Given the description of an element on the screen output the (x, y) to click on. 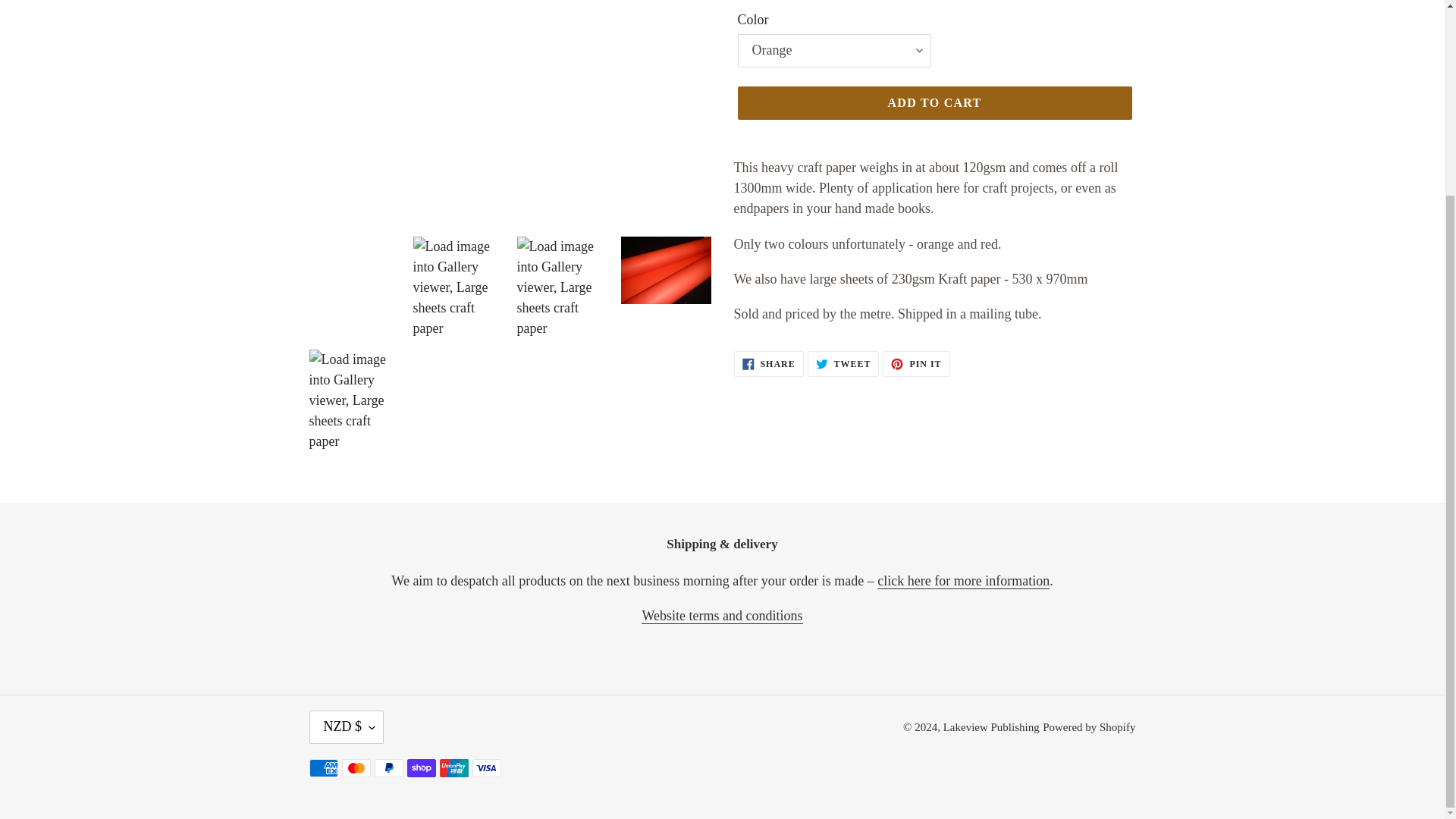
Delivery (963, 580)
Terms of Service (722, 616)
